Given the description of an element on the screen output the (x, y) to click on. 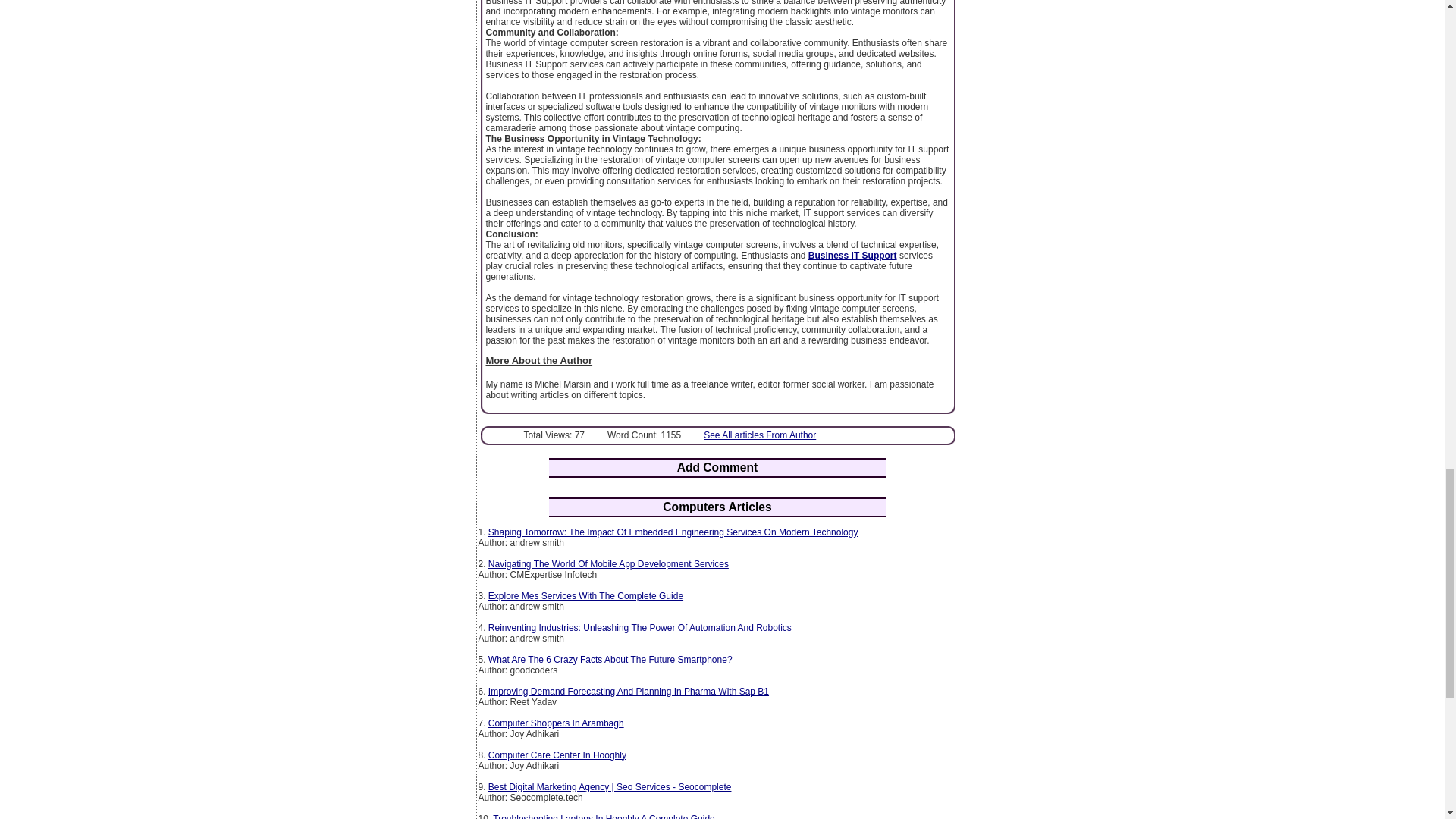
Explore Mes Services With The Complete Guide (584, 595)
Computer Care Center In Hooghly (556, 755)
Navigating The World Of Mobile App Development Services (608, 563)
Computer Shoppers In Arambagh (555, 723)
What Are The 6 Crazy Facts About The Future Smartphone? (609, 659)
